Given the description of an element on the screen output the (x, y) to click on. 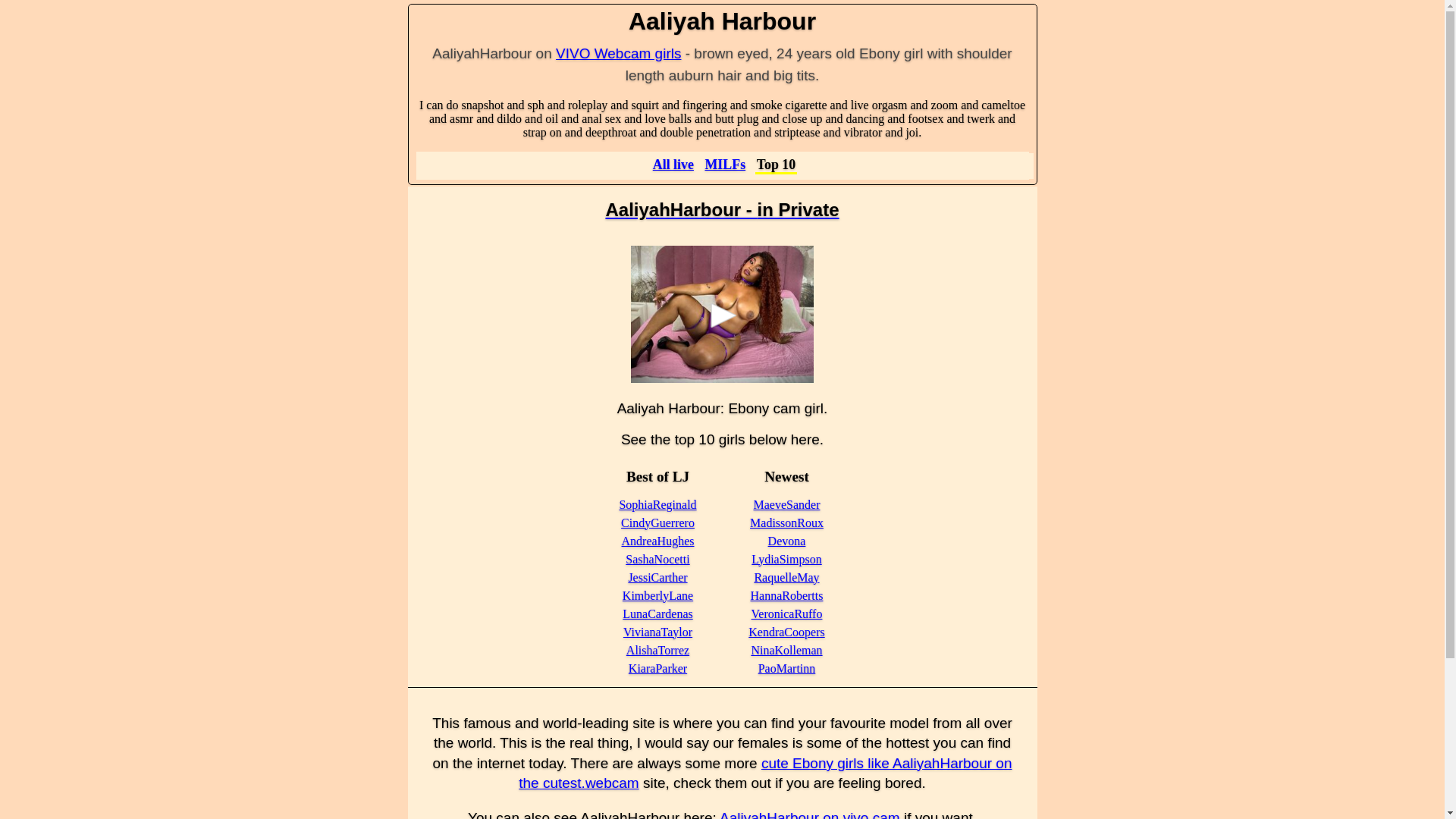
KendraCoopers (786, 631)
VivianaTaylor (658, 631)
Check out our most popular female performers here! (776, 165)
HannaRobertts (787, 594)
AlishaTorrez (657, 649)
SashaNocetti (657, 558)
Top 10 (776, 165)
LydiaSimpson (786, 558)
MILFs (724, 163)
cute Ebony girls like AaliyahHarbour on the cutest.webcam (764, 773)
Devona (787, 540)
LunaCardenas (658, 613)
AaliyahHarbour - in Private (721, 209)
PaoMartinn (786, 667)
CindyGuerrero (657, 522)
